Given the description of an element on the screen output the (x, y) to click on. 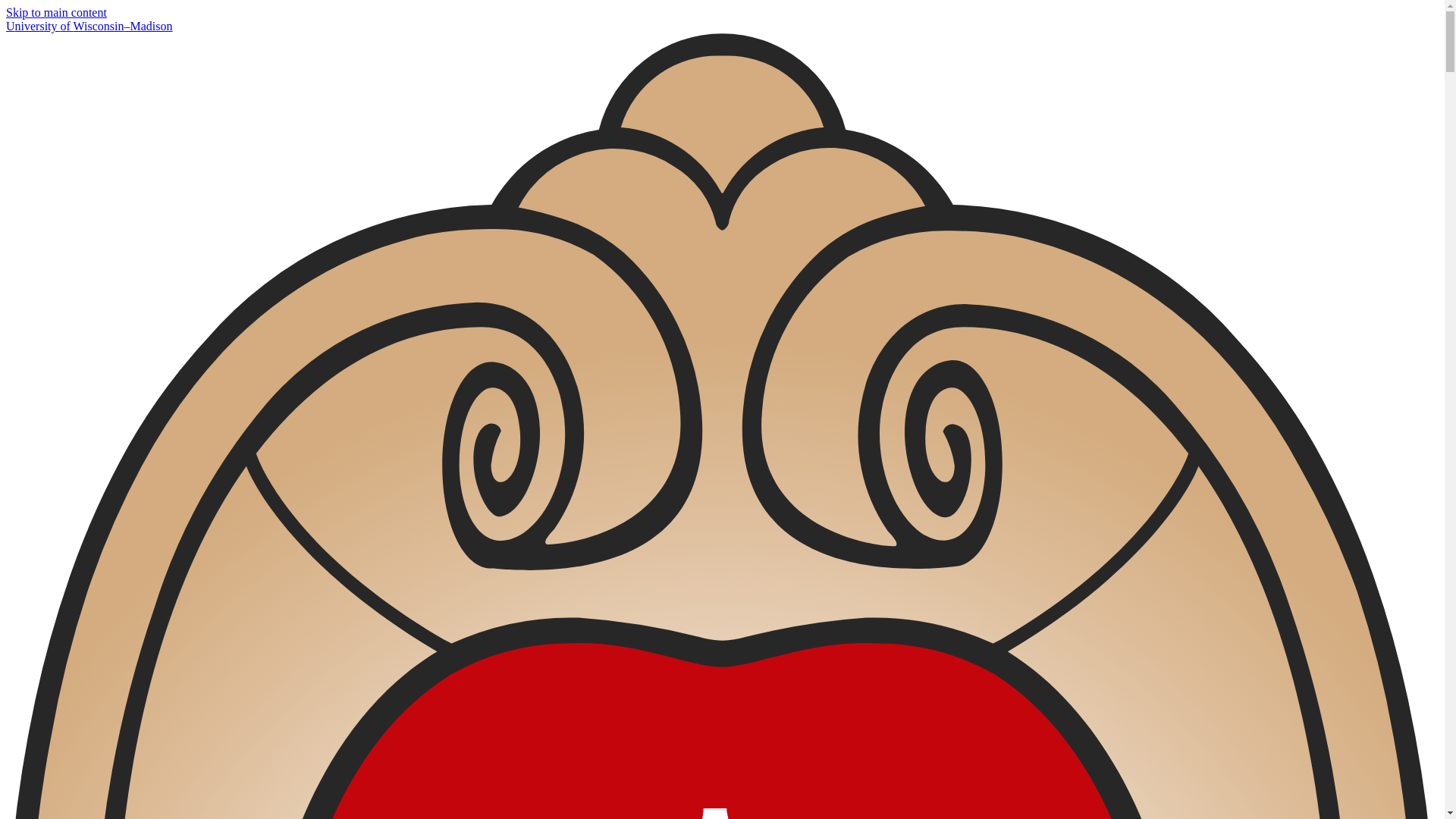
Skip to main content (55, 11)
